Given the description of an element on the screen output the (x, y) to click on. 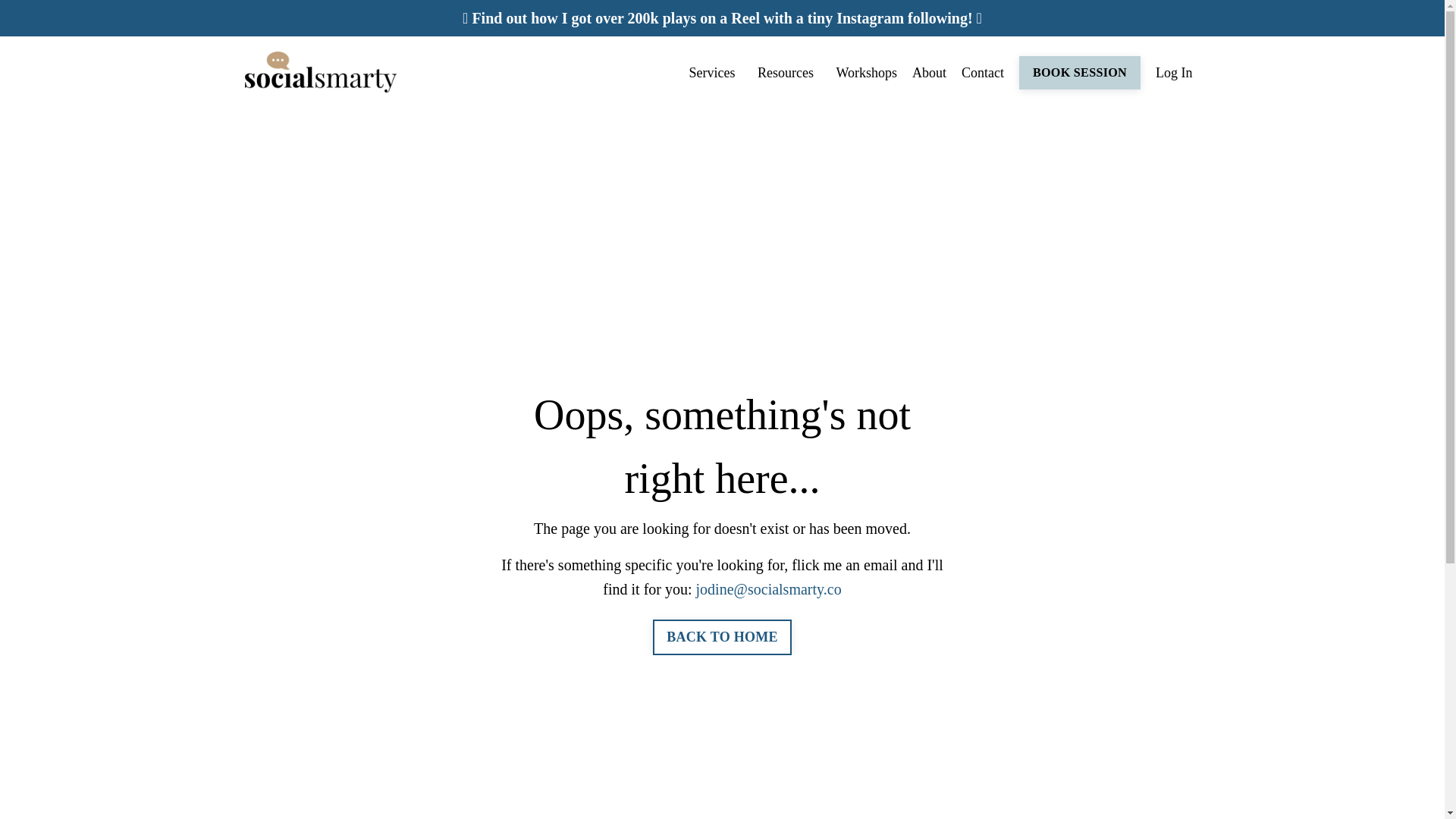
Resources (789, 73)
Contact (982, 73)
Workshops (865, 73)
BACK TO HOME (721, 637)
Services (714, 73)
Log In (1174, 72)
About (929, 73)
BOOK SESSION (1079, 72)
